Given the description of an element on the screen output the (x, y) to click on. 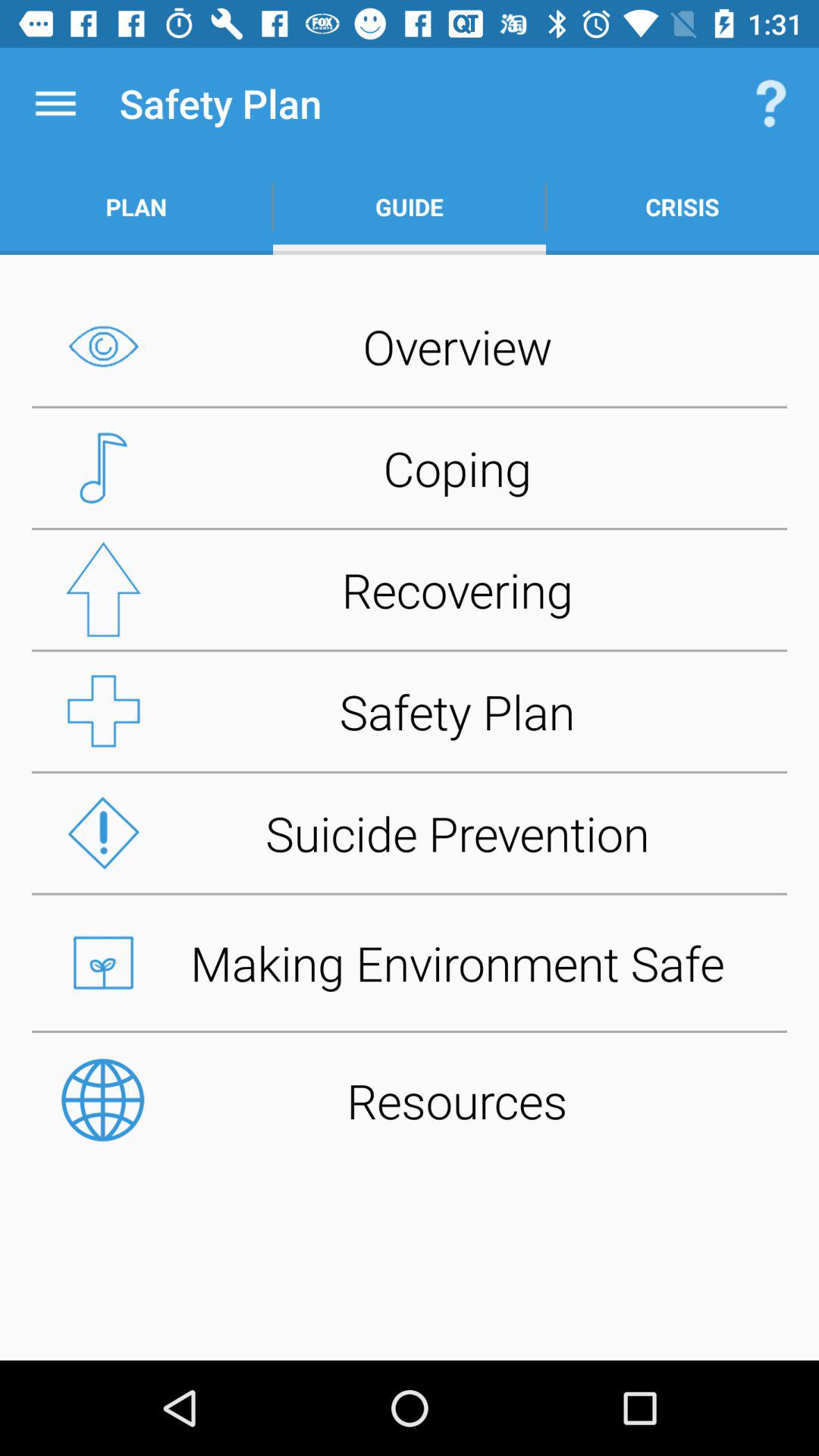
click coping icon (409, 467)
